Given the description of an element on the screen output the (x, y) to click on. 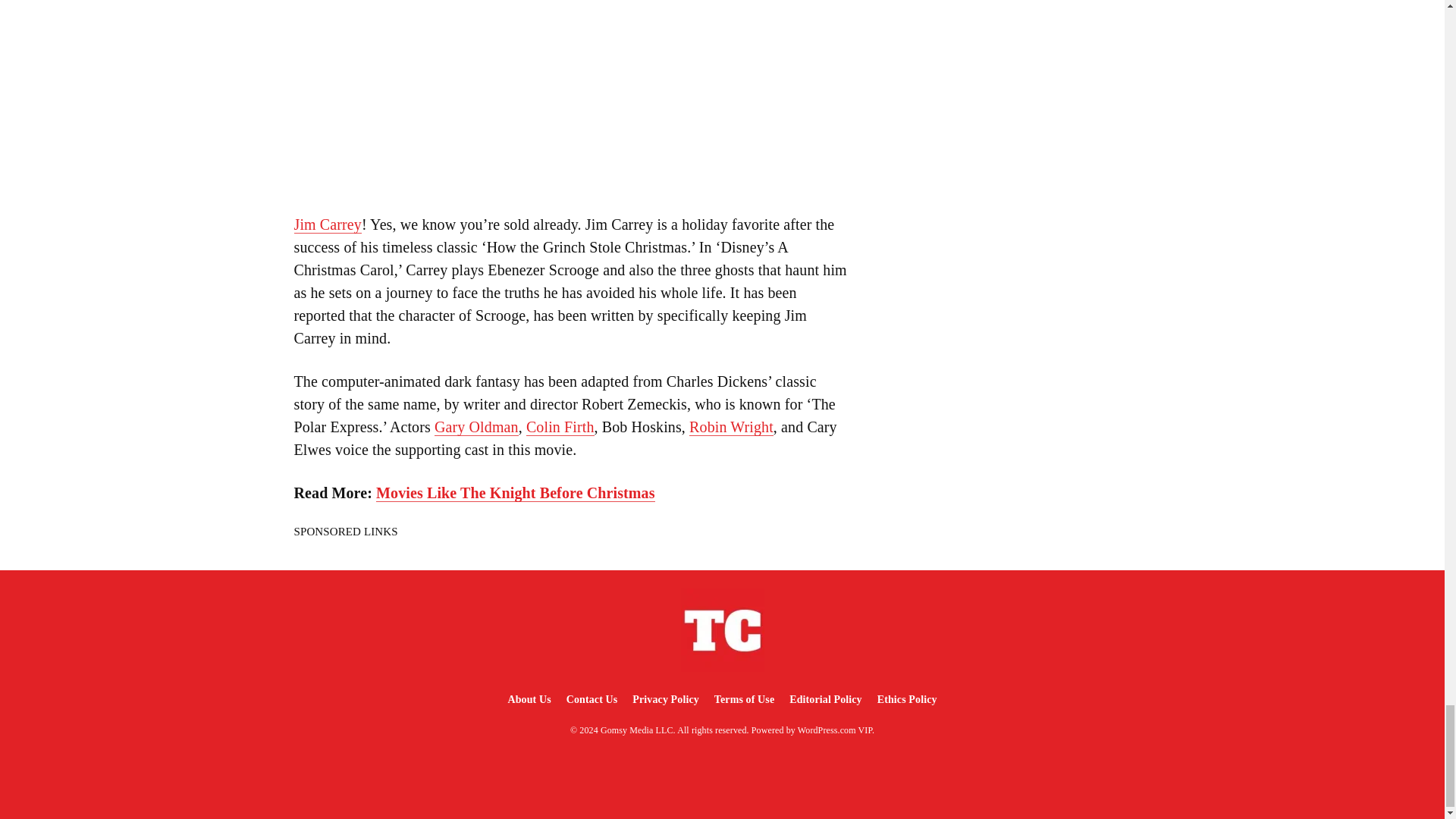
Contact Us (592, 699)
Editorial Policy (825, 699)
Robin Wright (730, 426)
Movies Like The Knight Before Christmas (515, 493)
Gary Oldman (475, 426)
Terms of Use (743, 699)
Jim Carrey (327, 224)
About Us (528, 699)
Privacy Policy (665, 699)
Colin Firth (559, 426)
